Given the description of an element on the screen output the (x, y) to click on. 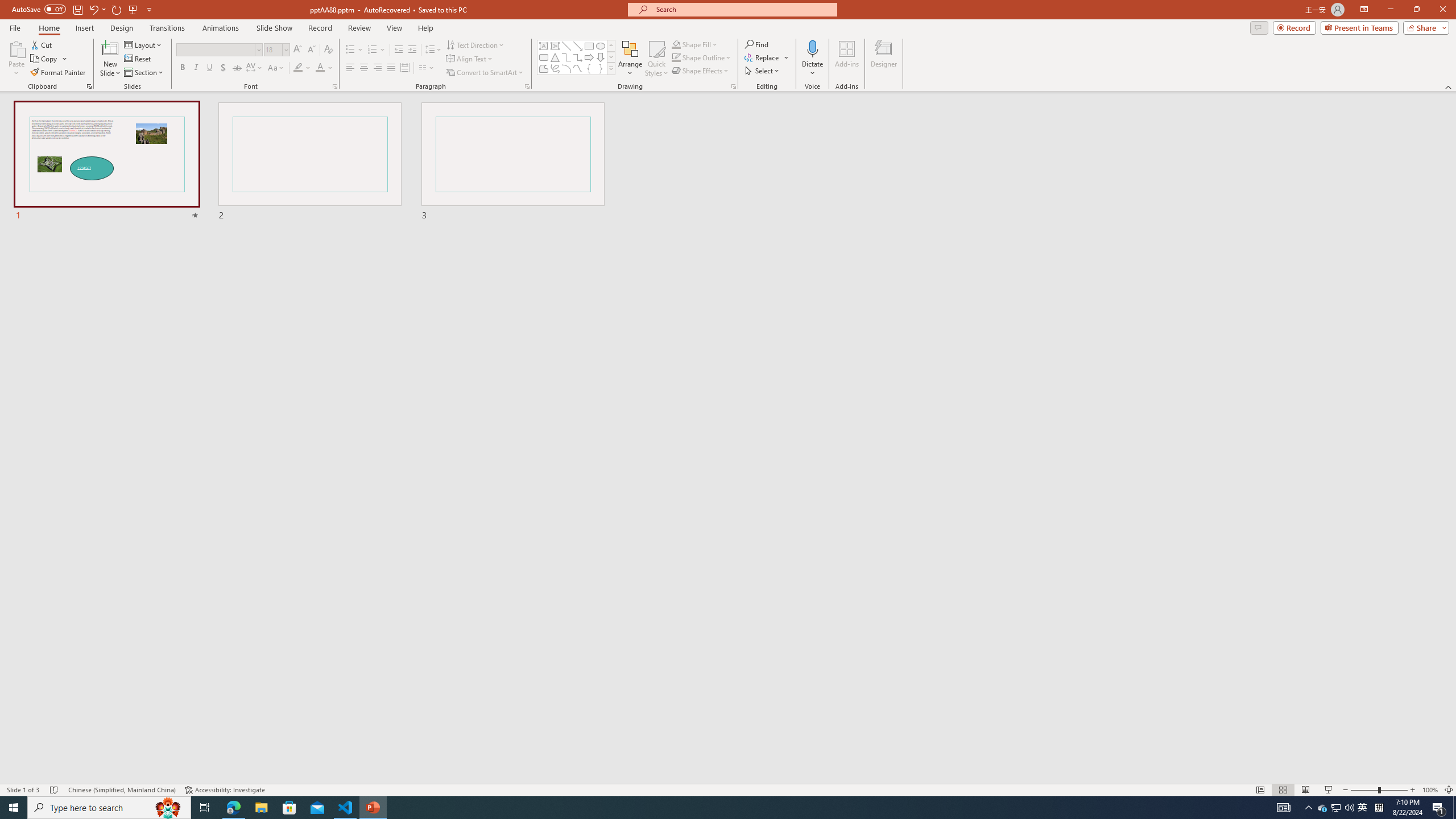
Align Text (470, 58)
Freeform: Shape (543, 68)
Align Left (349, 67)
Underline (209, 67)
Right Brace (600, 68)
Select (762, 69)
Italic (195, 67)
